Given the description of an element on the screen output the (x, y) to click on. 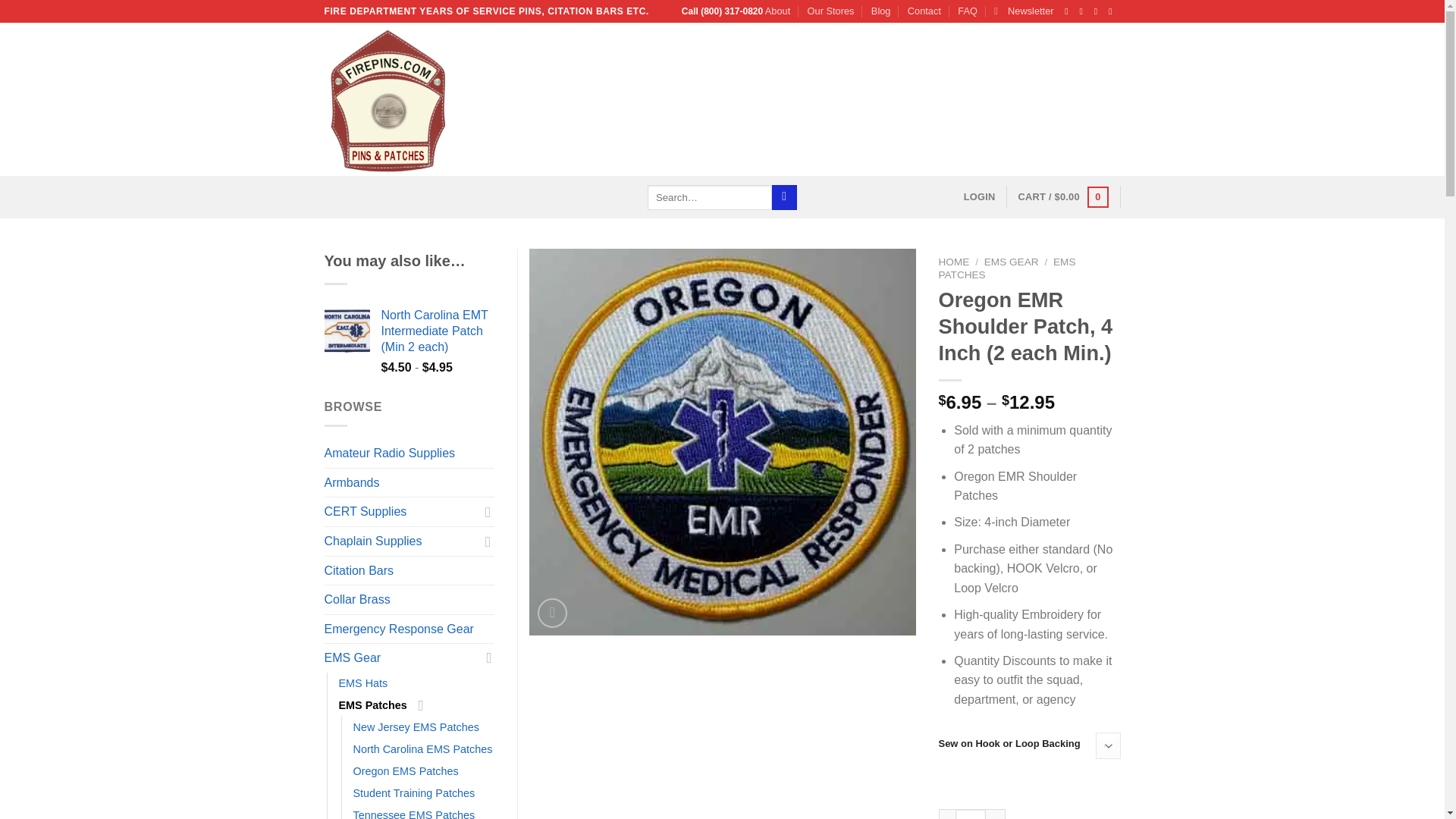
About (777, 11)
EMS GEAR (1011, 261)
EMS PATCHES (1007, 268)
- (947, 814)
2 (970, 814)
Sign up for Newsletter (1023, 11)
Contact (923, 11)
LOGIN (979, 196)
Follow on Facebook (1069, 10)
Our Stores (831, 11)
FAQ (967, 11)
Follow on Instagram (1084, 10)
FirePins.com - Fire and EMS Uniform Pins and Patches (460, 99)
Blog (880, 11)
Follow on Twitter (1098, 10)
